Given the description of an element on the screen output the (x, y) to click on. 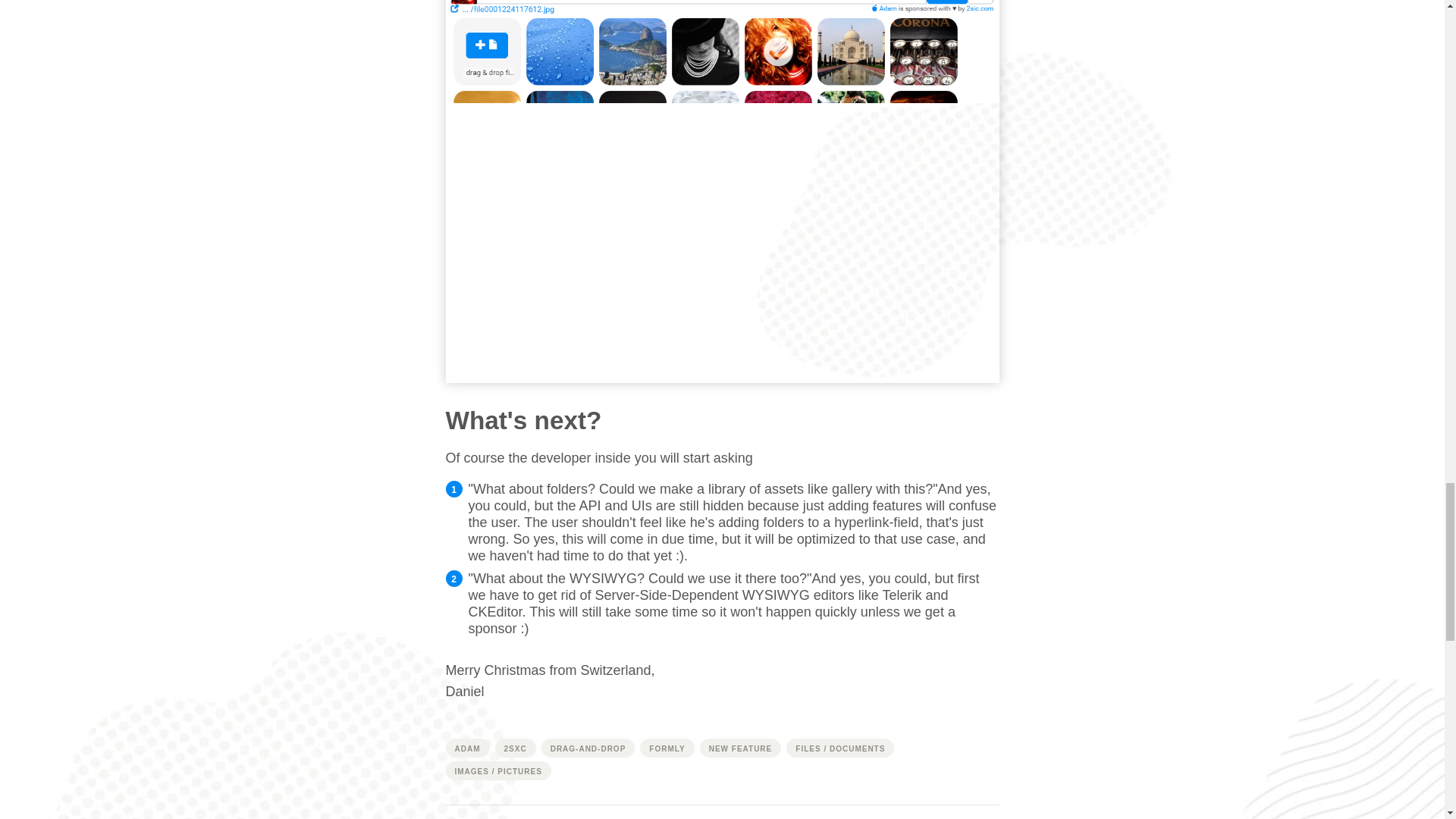
Drag-and-drop (587, 747)
DRAG-AND-DROP (587, 747)
NEW FEATURE (740, 747)
2SXC (515, 747)
New feature (740, 747)
2sxc (515, 747)
FORMLY (667, 747)
formly (667, 747)
adam (467, 747)
ADAM (467, 747)
